Given the description of an element on the screen output the (x, y) to click on. 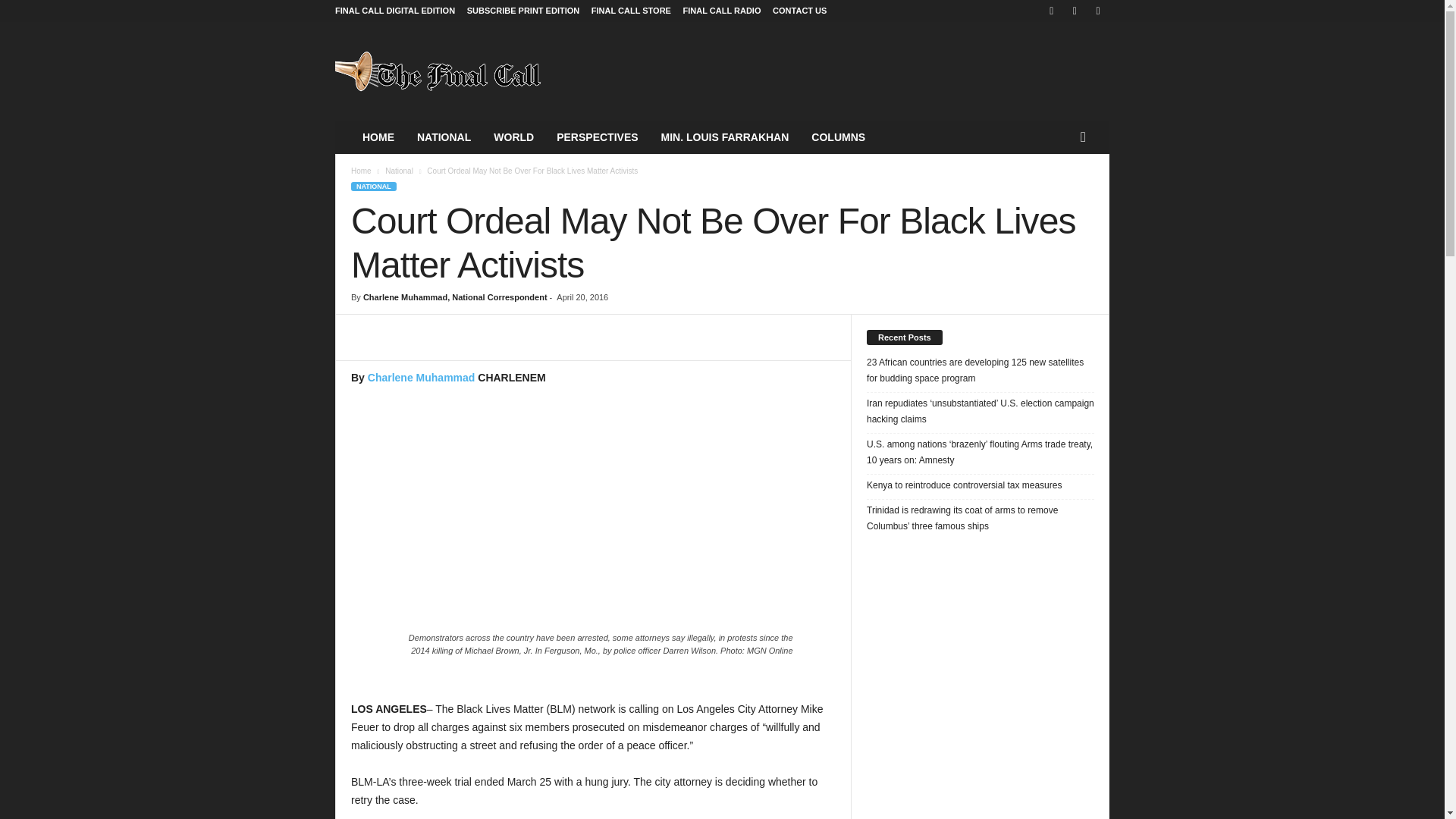
Final Call News (437, 70)
NATIONAL (443, 136)
FINAL CALL RADIO (721, 10)
SUBSCRIBE PRINT EDITION (523, 10)
FINAL CALL STORE (631, 10)
CONTACT US (800, 10)
HOME (378, 136)
FINAL CALL DIGITAL EDITION (394, 10)
